Given the description of an element on the screen output the (x, y) to click on. 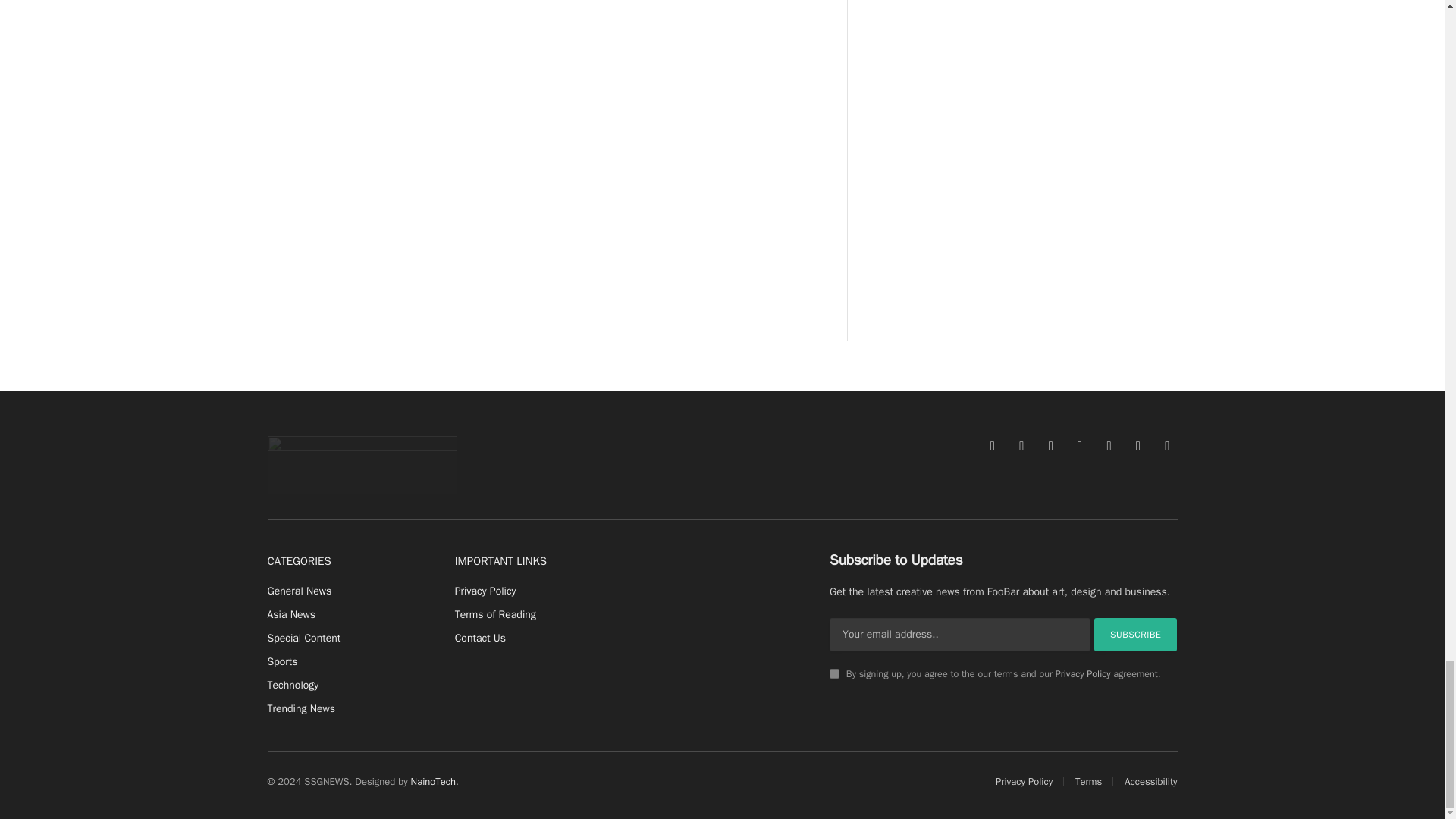
Subscribe (1135, 634)
on (834, 673)
